Given the description of an element on the screen output the (x, y) to click on. 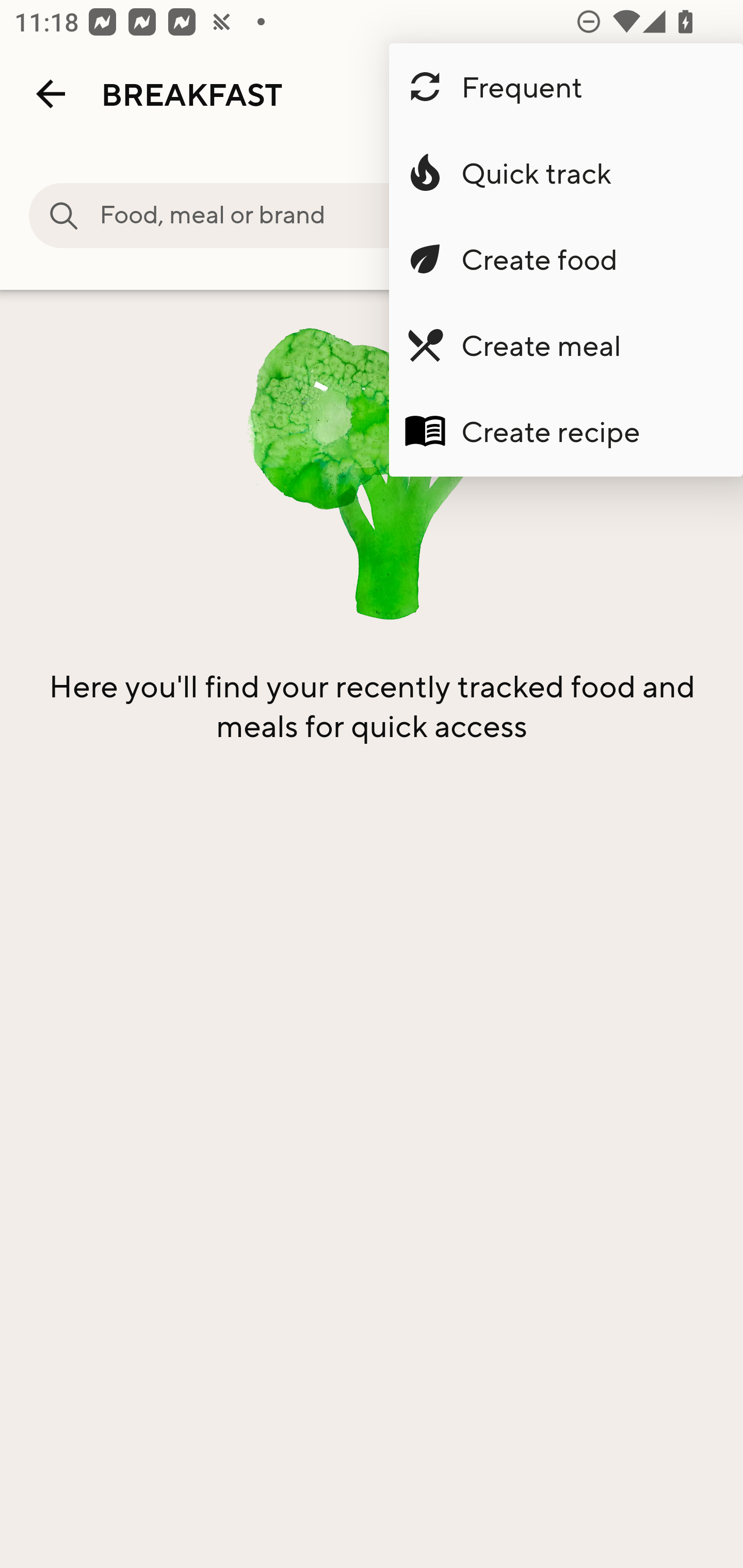
Frequent (566, 86)
Quick track (566, 173)
Create food (566, 259)
Create meal (566, 344)
Create recipe (566, 431)
